Given the description of an element on the screen output the (x, y) to click on. 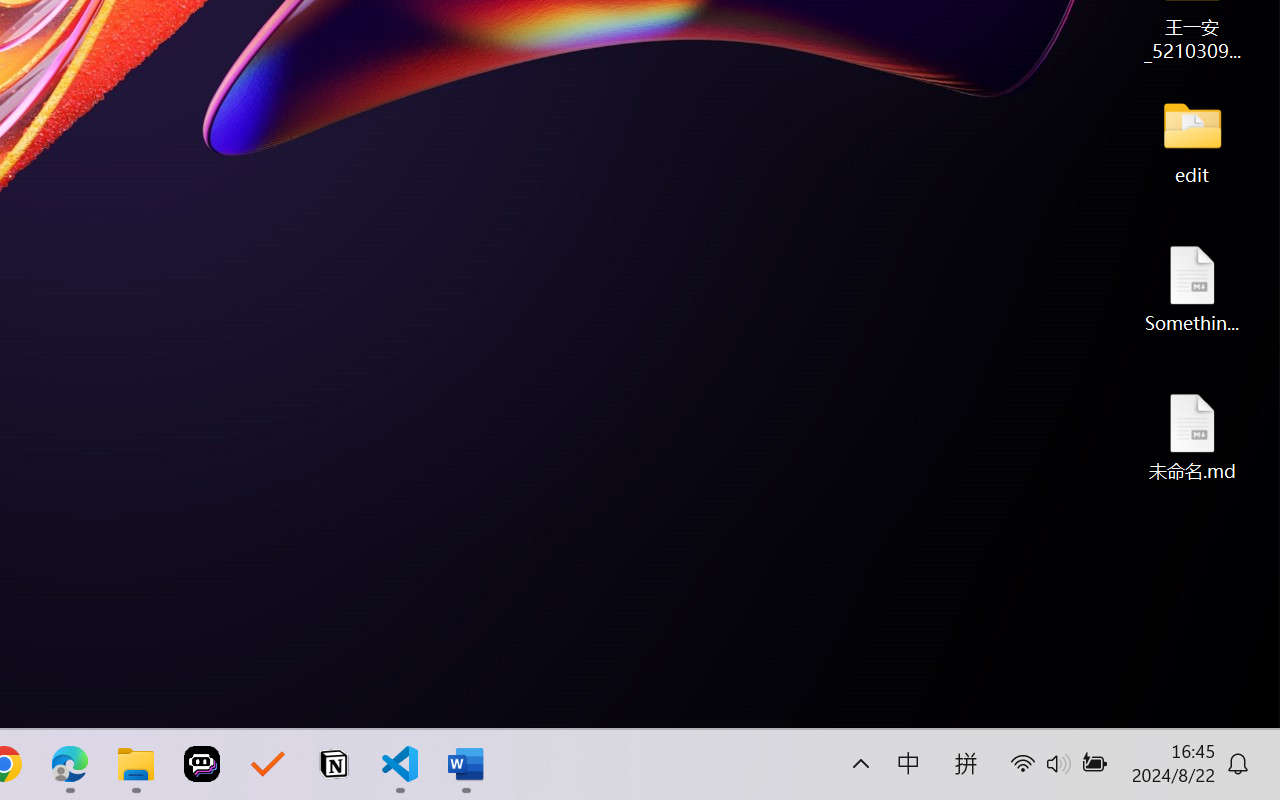
edit (1192, 140)
